Given the description of an element on the screen output the (x, y) to click on. 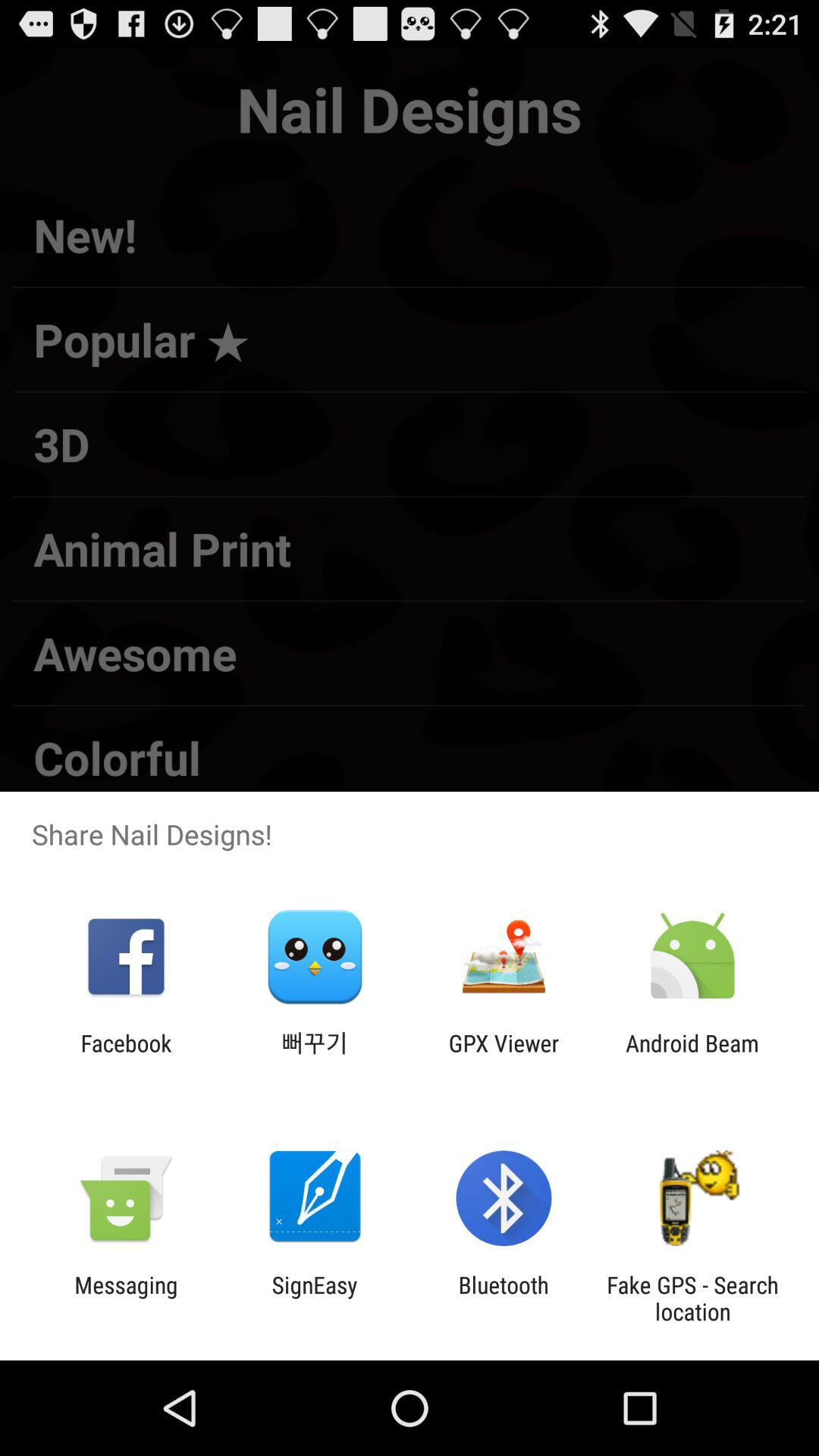
click app to the left of the android beam (503, 1056)
